Given the description of an element on the screen output the (x, y) to click on. 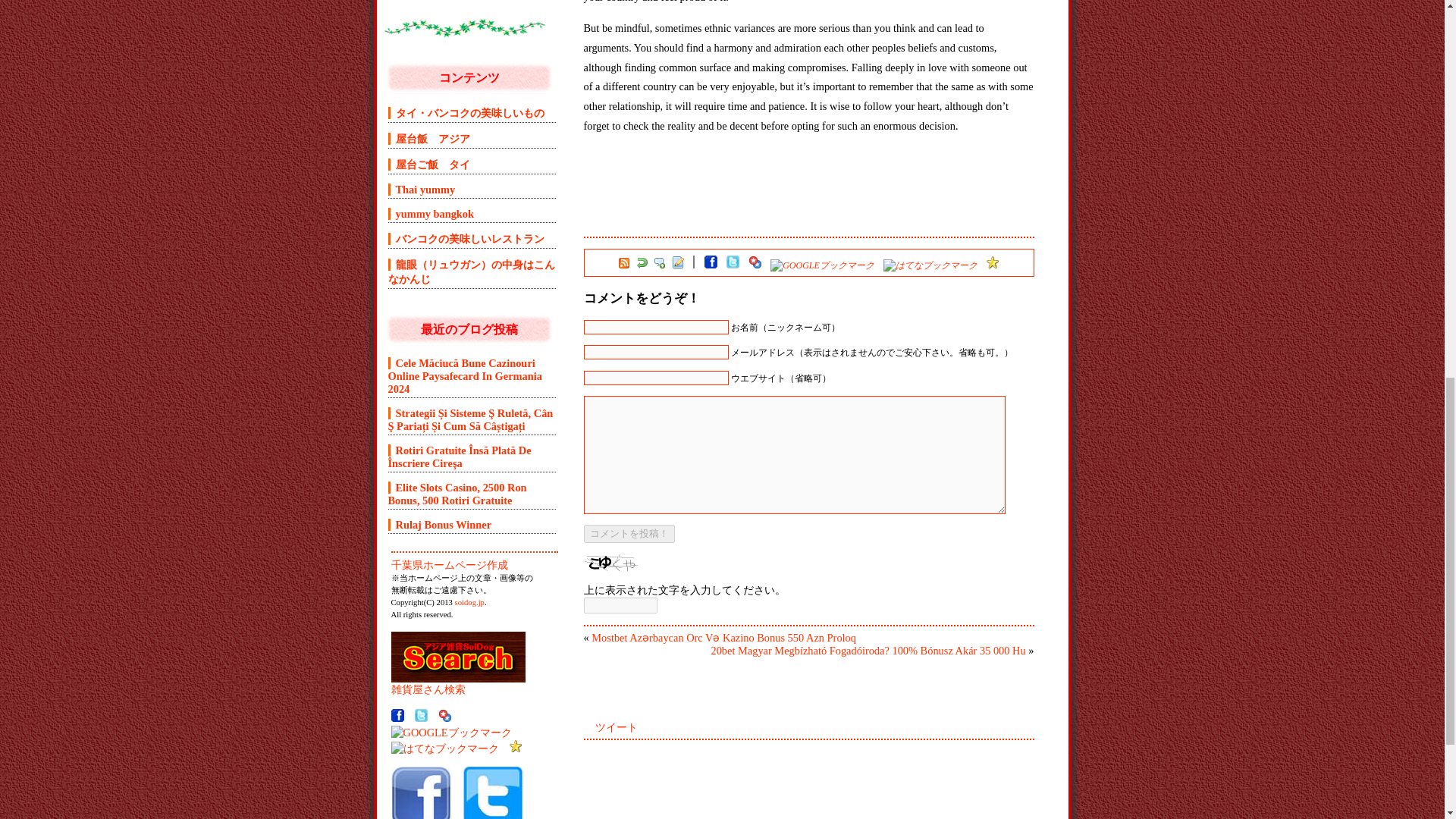
yummy bangkok (431, 214)
Thai yummy (421, 189)
Advertisement (761, 225)
